Given the description of an element on the screen output the (x, y) to click on. 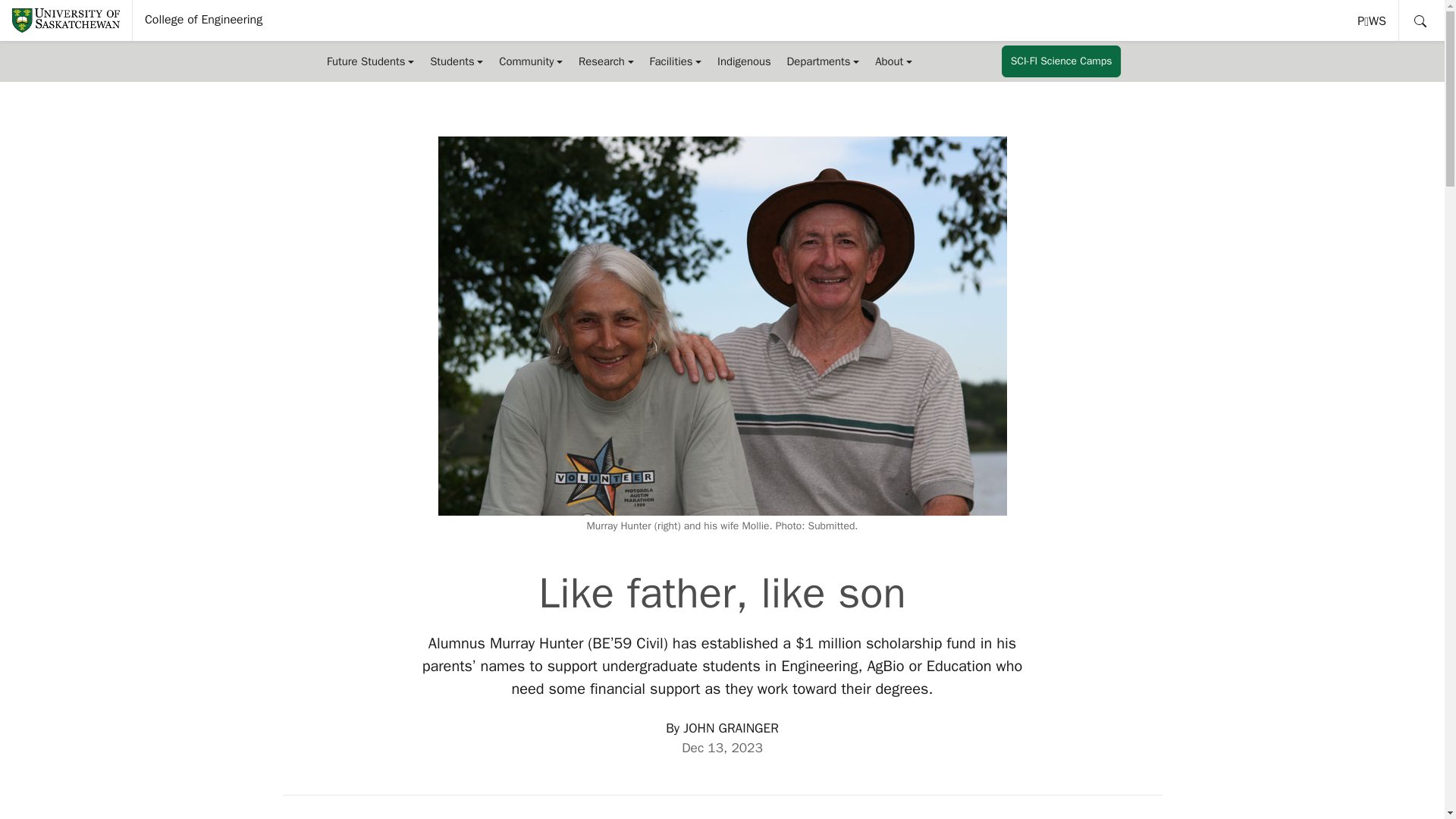
Students (1372, 20)
College of Engineering (457, 60)
Community (203, 20)
Future Students (531, 60)
PAWS (370, 60)
